Given the description of an element on the screen output the (x, y) to click on. 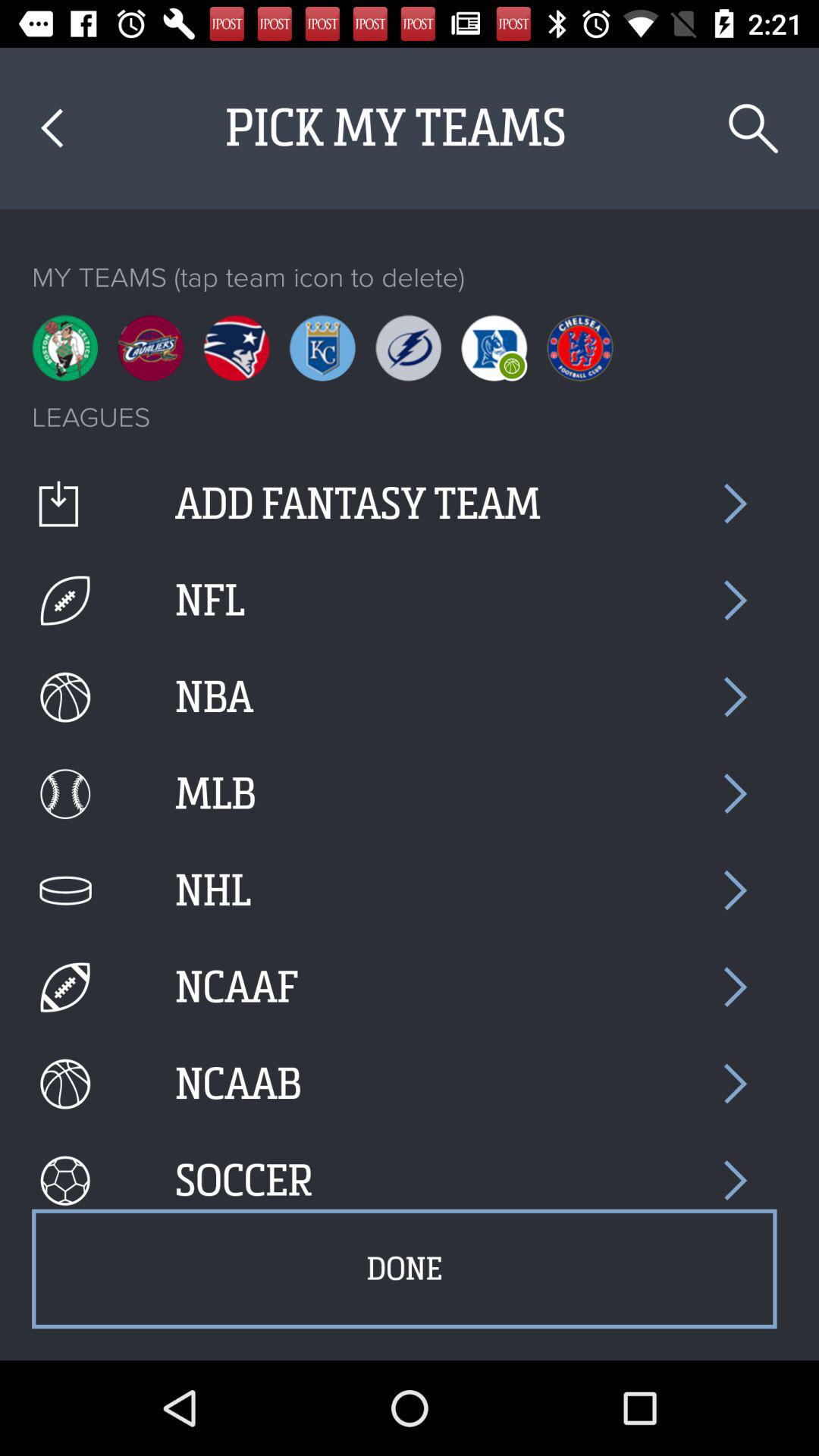
turn off item next to pick my teams (753, 128)
